Given the description of an element on the screen output the (x, y) to click on. 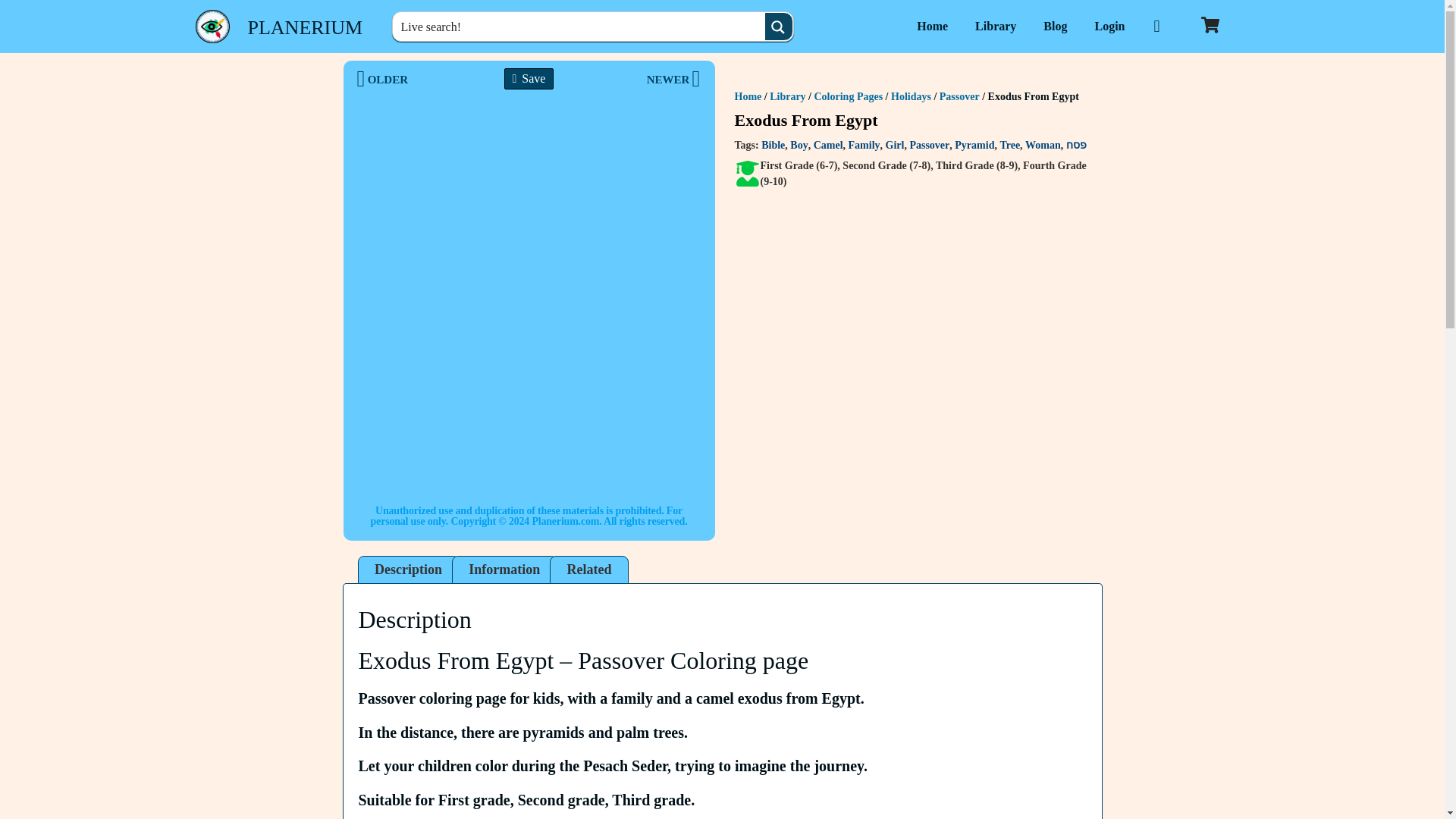
Girl (894, 144)
Login (1109, 26)
Boy (799, 144)
Passover (928, 144)
Coloring Pages (848, 96)
OLDER (442, 78)
Woman (1043, 144)
Pyramid (974, 144)
Printables Library (994, 26)
NEWER (614, 78)
Home (747, 96)
Description (408, 569)
Passover (959, 96)
Library (994, 26)
Blog (1054, 26)
